Given the description of an element on the screen output the (x, y) to click on. 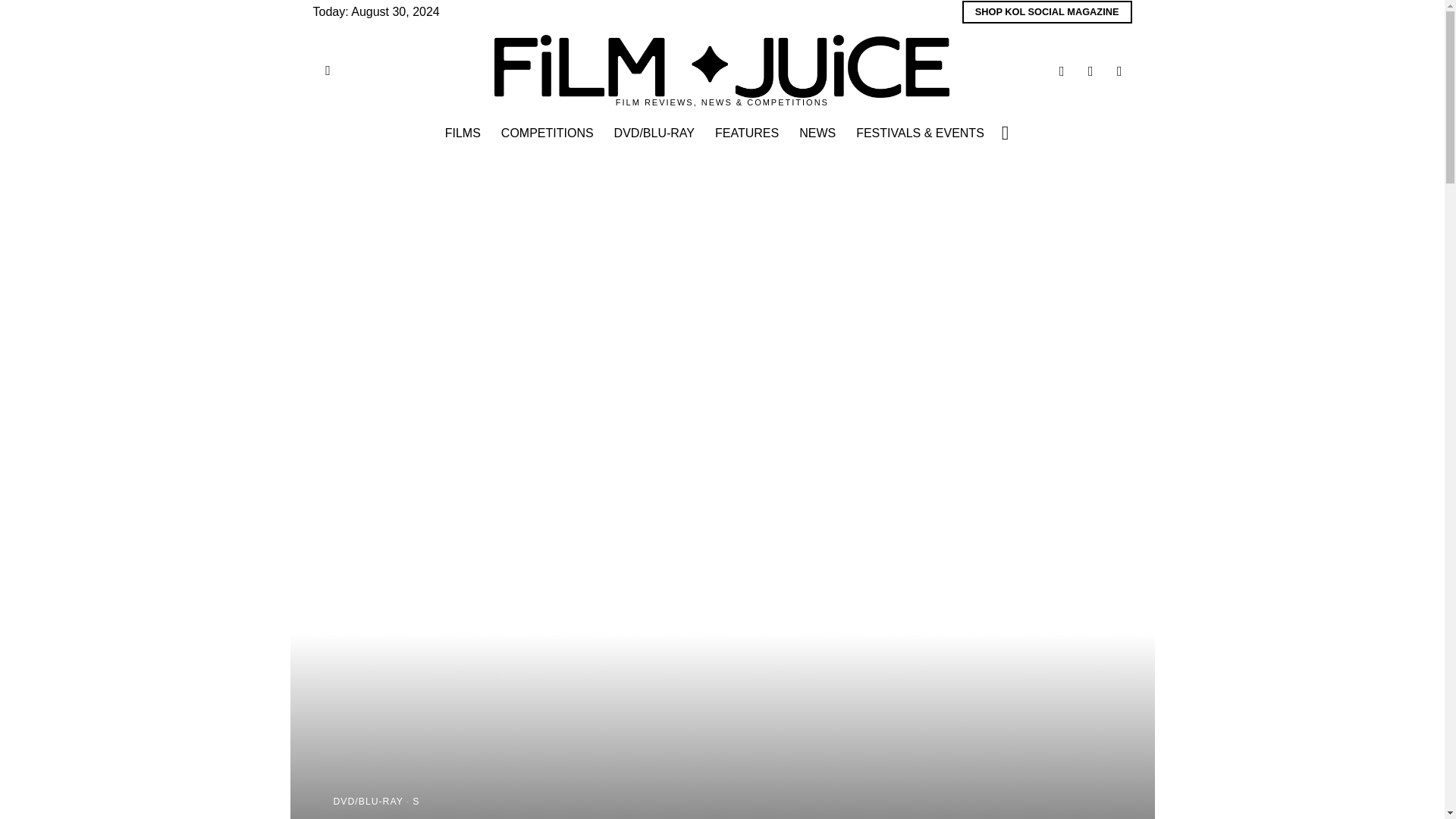
COMPETITIONS (548, 132)
NEWS (818, 132)
FILMS (463, 132)
SHOP KOL SOCIAL MAGAZINE (1047, 11)
FEATURES (748, 132)
